Given the description of an element on the screen output the (x, y) to click on. 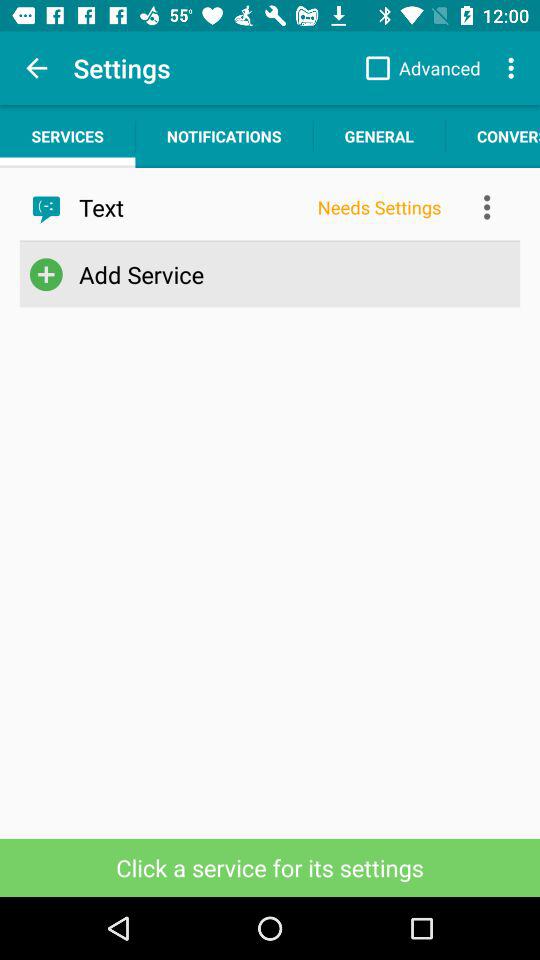
select icon above the click a service app (266, 274)
